Given the description of an element on the screen output the (x, y) to click on. 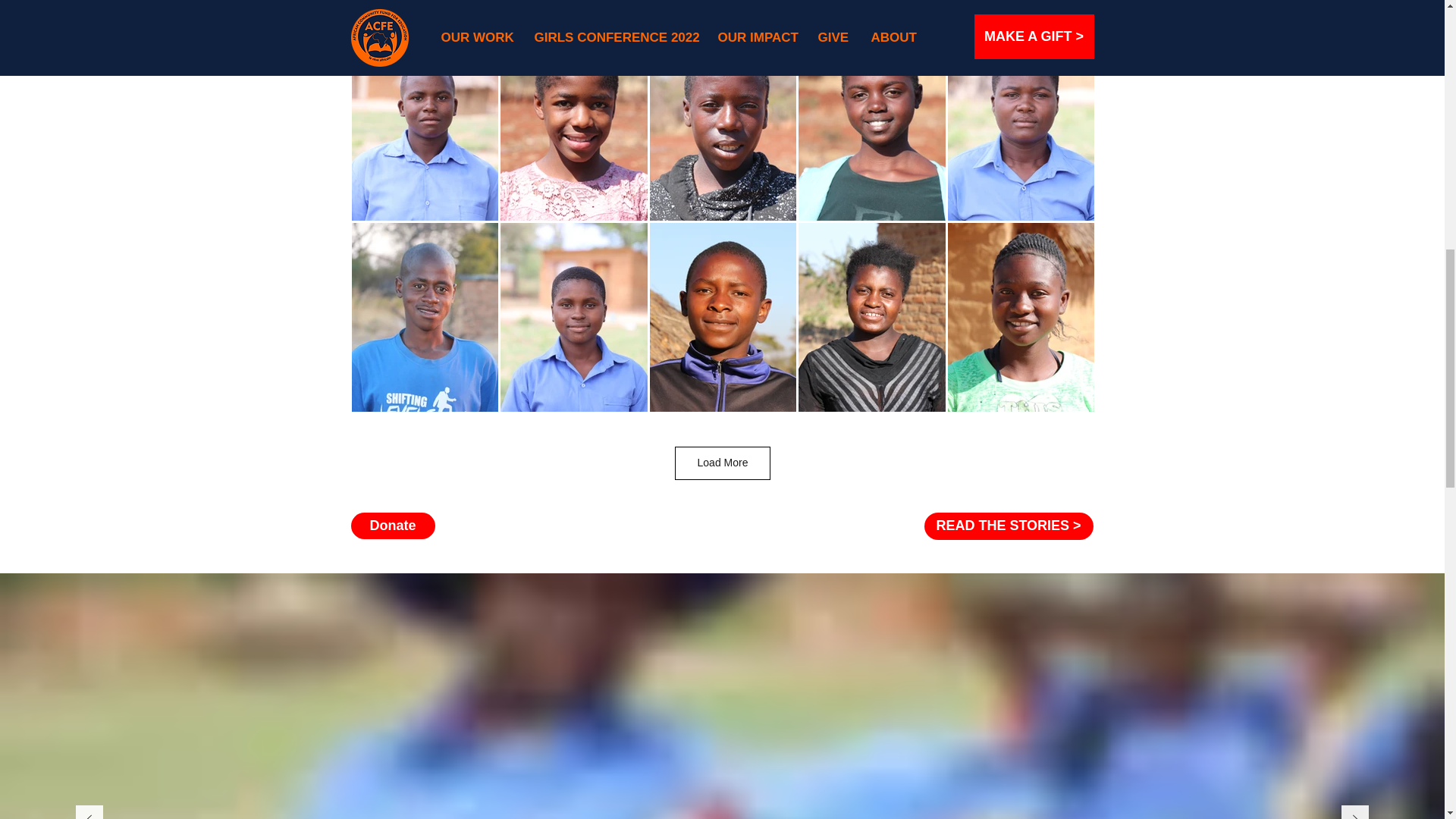
Load More (723, 462)
Donate (391, 525)
